Given the description of an element on the screen output the (x, y) to click on. 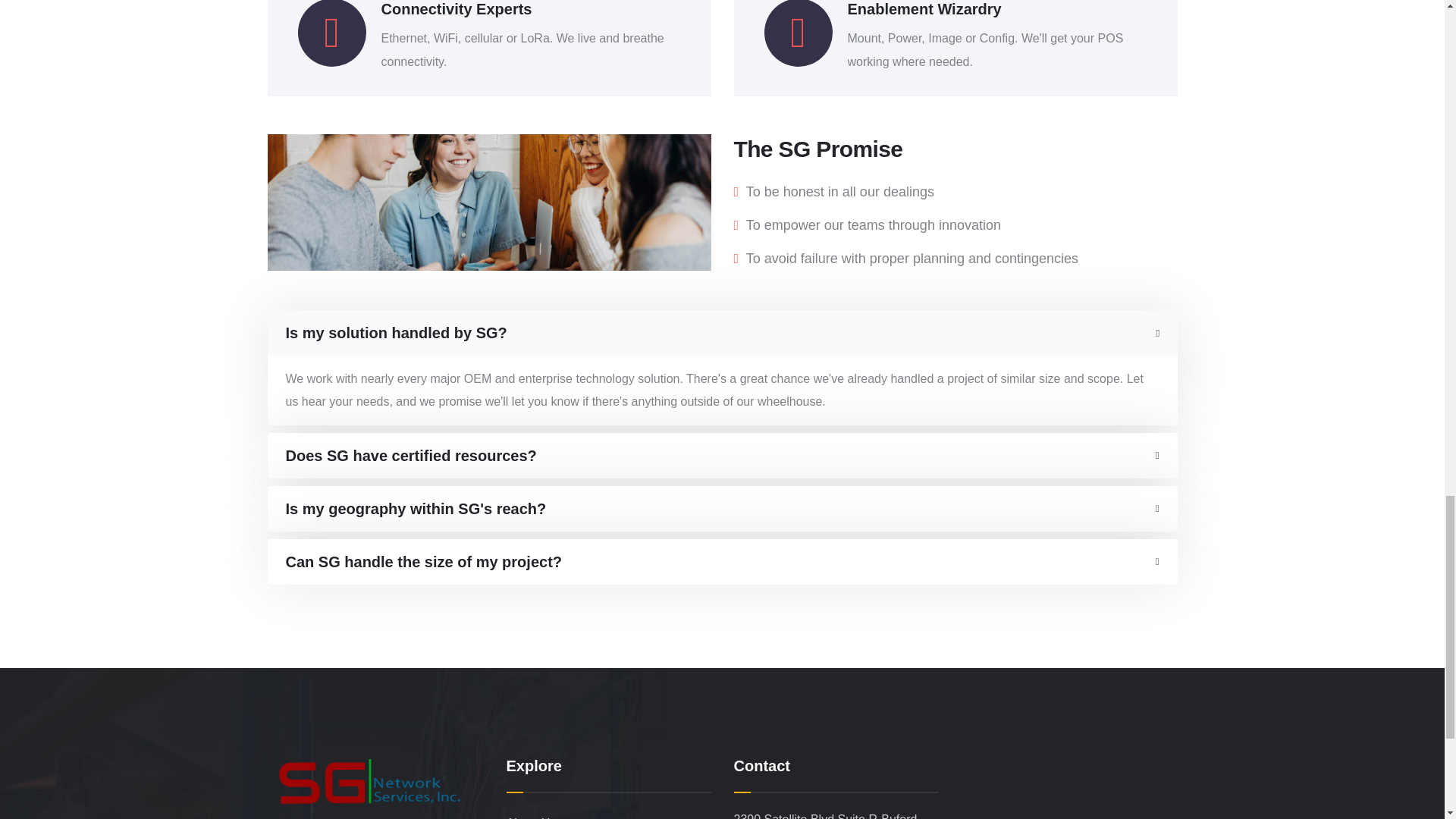
About Us (608, 813)
